Given the description of an element on the screen output the (x, y) to click on. 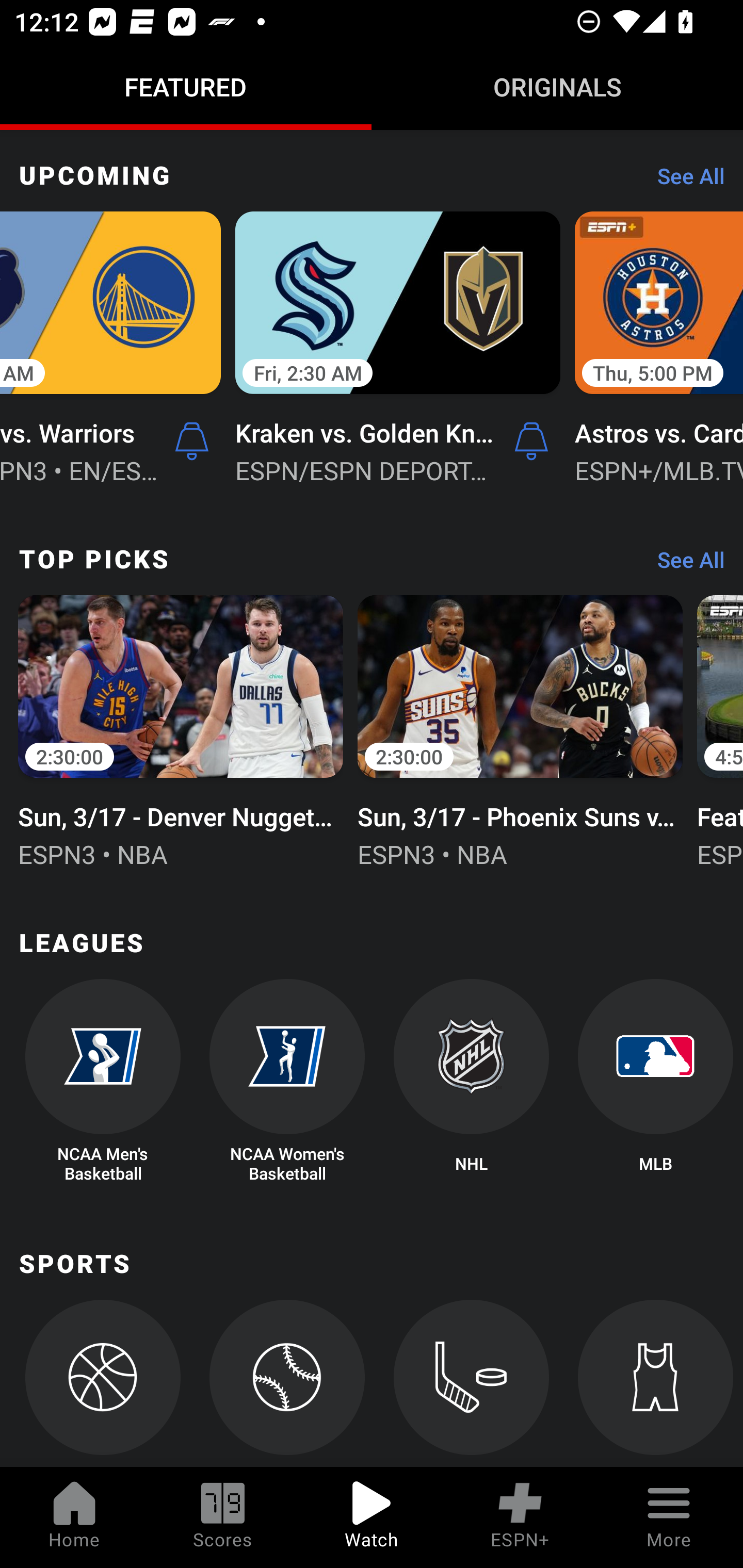
Originals ORIGINALS (557, 86)
See All (683, 180)
Alerts (191, 441)
Alerts (531, 441)
See All (683, 564)
NCAA Men's Basketball (102, 1081)
NCAA Women's Basketball (286, 1081)
NHL (471, 1081)
MLB (655, 1081)
Basketball (102, 1383)
Baseball (286, 1383)
Hockey (471, 1383)
Wrestling (655, 1383)
Home (74, 1517)
Scores (222, 1517)
ESPN+ (519, 1517)
More (668, 1517)
